Given the description of an element on the screen output the (x, y) to click on. 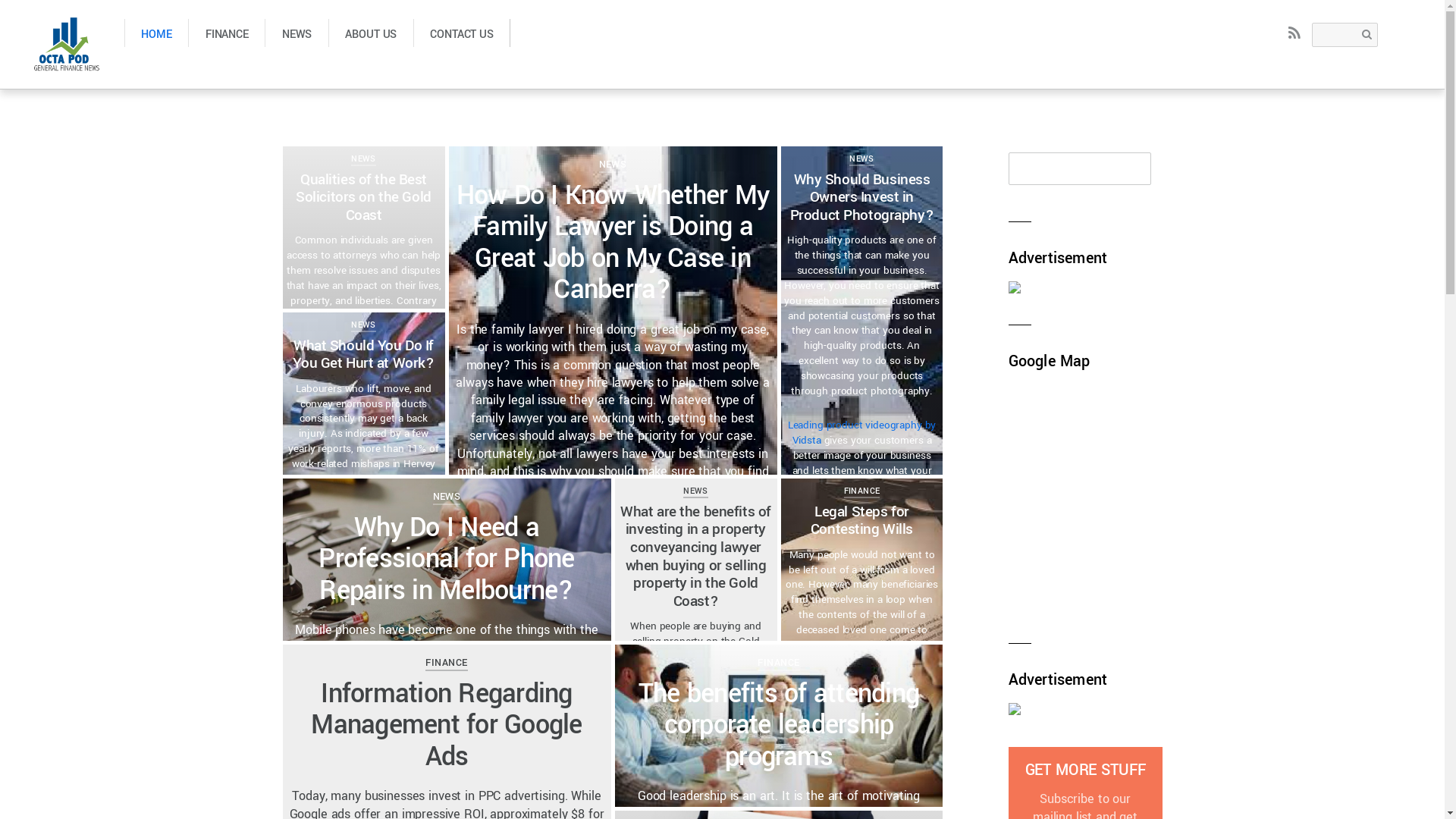
FINANCE Element type: text (446, 662)
Octa Pod Element type: hover (66, 43)
Search Element type: hover (1344, 34)
FINANCE Element type: text (862, 490)
Leading product videography by Vidsta Element type: text (861, 432)
NEWS Element type: text (363, 324)
CONTACT US Element type: text (462, 32)
ABOUT US Element type: text (370, 32)
Information Regarding Management for Google Ads Element type: text (445, 725)
The benefits of attending corporate leadership programs Element type: text (778, 725)
NEWS Element type: text (447, 496)
Why Do I Need a Professional for Phone Repairs in Melbourne? Element type: text (446, 559)
Why Should Business Owners Invest in Product Photography? Element type: text (861, 197)
Octa Pod Element type: hover (66, 61)
Legal Steps for Contesting Wills Element type: text (861, 520)
Qualities of the Best Solicitors on the Gold Coast Element type: text (363, 197)
NEWS Element type: text (695, 490)
Search Element type: hover (1079, 168)
What Should You Do If You Get Hurt at Work? Element type: text (362, 354)
NEWS Element type: text (613, 163)
NEWS Element type: text (363, 158)
HOME Element type: text (156, 32)
NEWS Element type: text (861, 158)
FINANCE Element type: text (778, 662)
NEWS Element type: text (296, 32)
FINANCE Element type: text (226, 32)
